Given the description of an element on the screen output the (x, y) to click on. 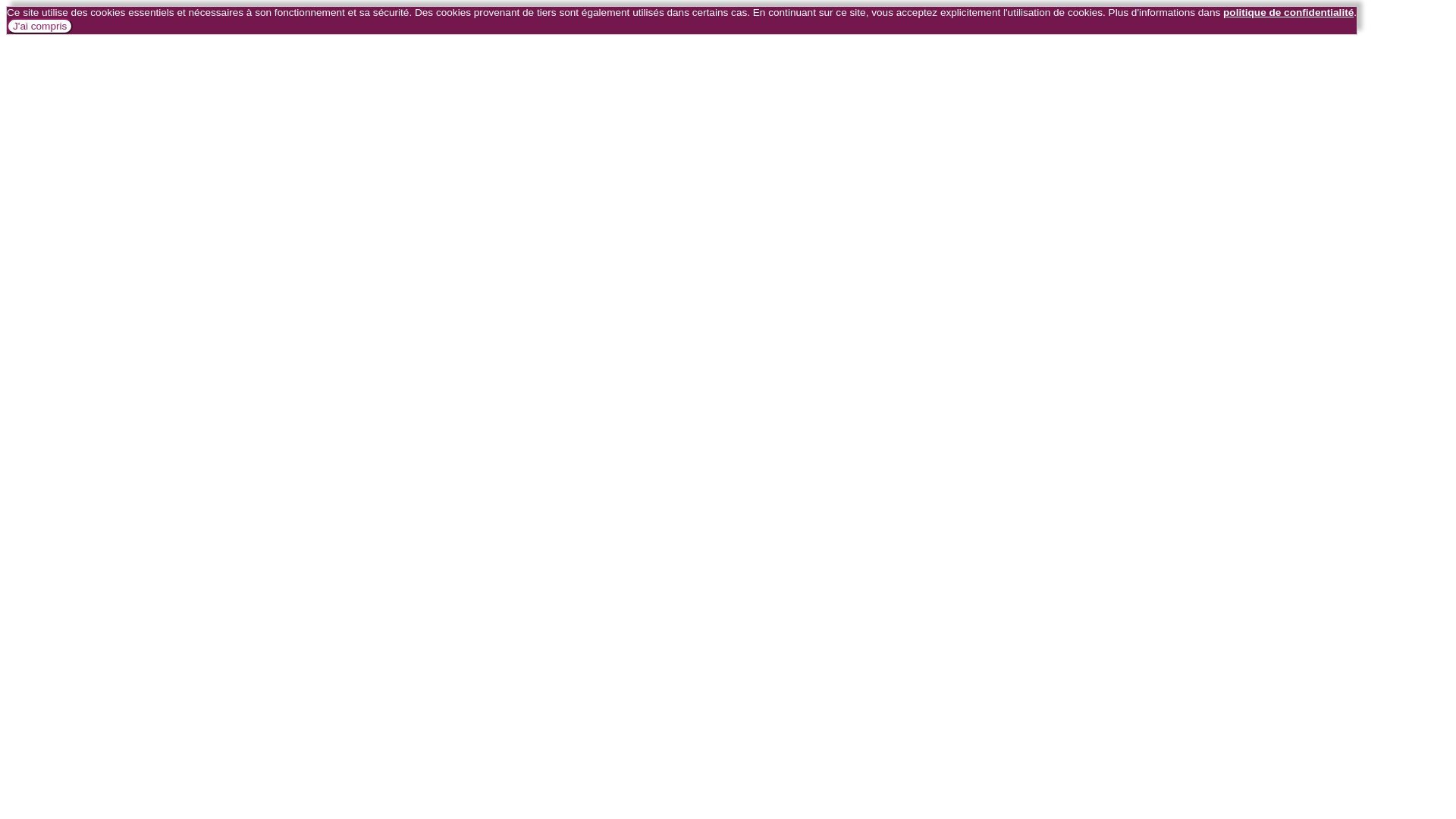
J'ai compris Element type: text (39, 26)
